Given the description of an element on the screen output the (x, y) to click on. 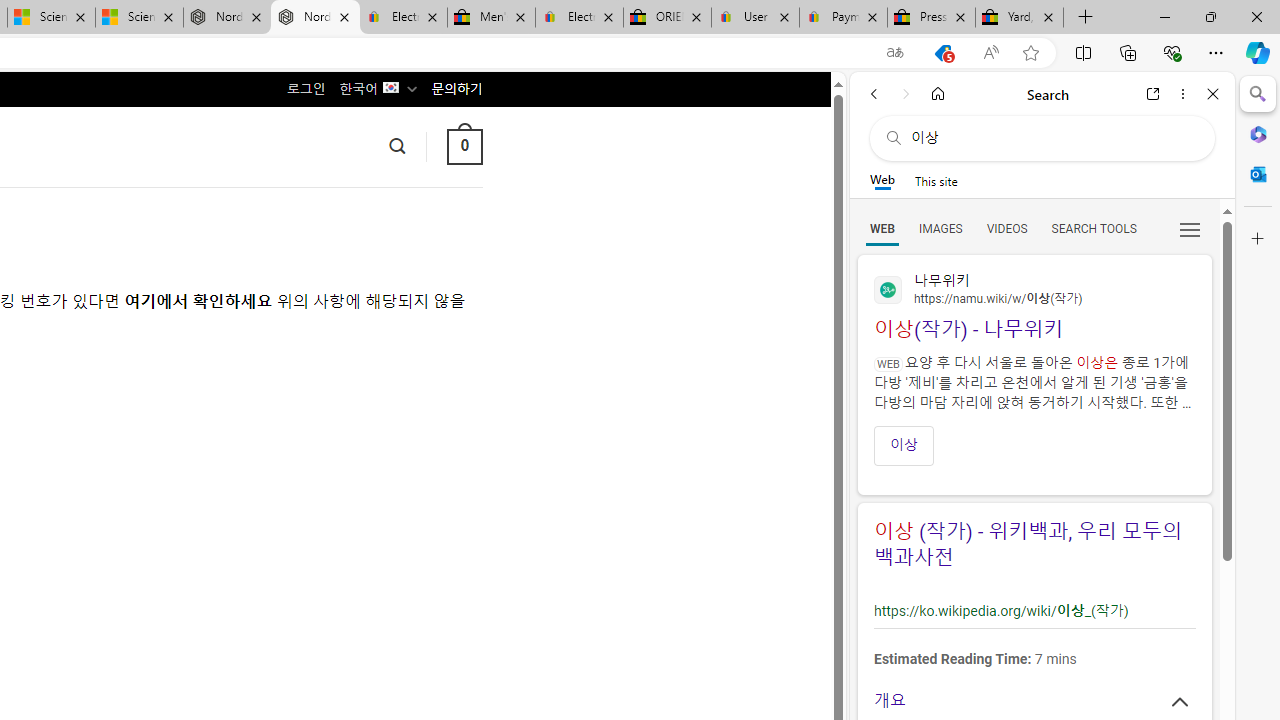
Payments Terms of Use | eBay.com (843, 17)
Forward (906, 93)
Press Room - eBay Inc. (931, 17)
This site has coupons! Shopping in Microsoft Edge, 5 (943, 53)
WEB   (882, 228)
  0   (464, 146)
Web scope (882, 180)
